Given the description of an element on the screen output the (x, y) to click on. 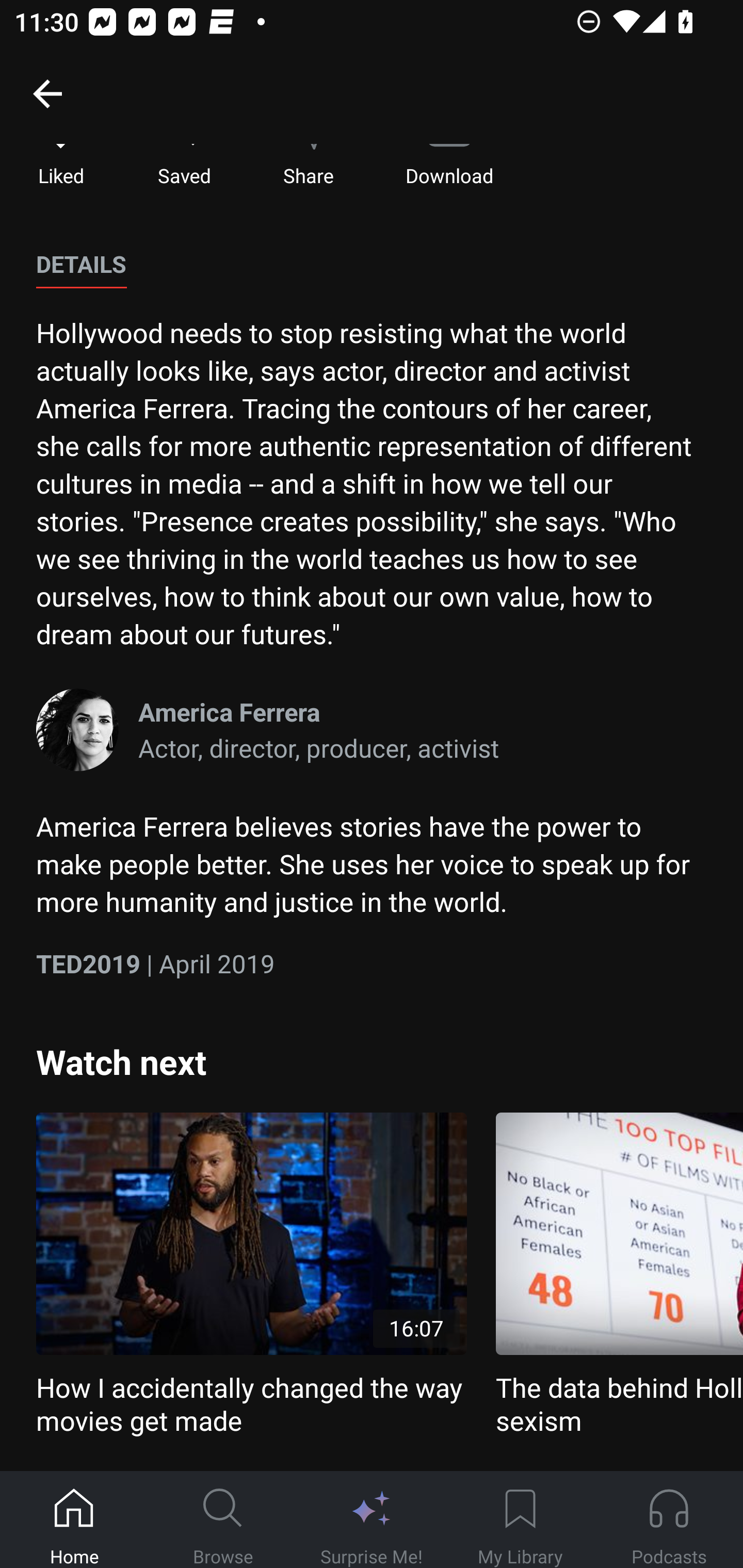
Home, back (47, 92)
Liked (60, 166)
Saved (183, 166)
Share (308, 166)
Download (449, 166)
DETAILS (80, 264)
The data behind Hollywood's sexism (619, 1275)
Home (74, 1520)
Browse (222, 1520)
Surprise Me! (371, 1520)
My Library (519, 1520)
Podcasts (668, 1520)
